Given the description of an element on the screen output the (x, y) to click on. 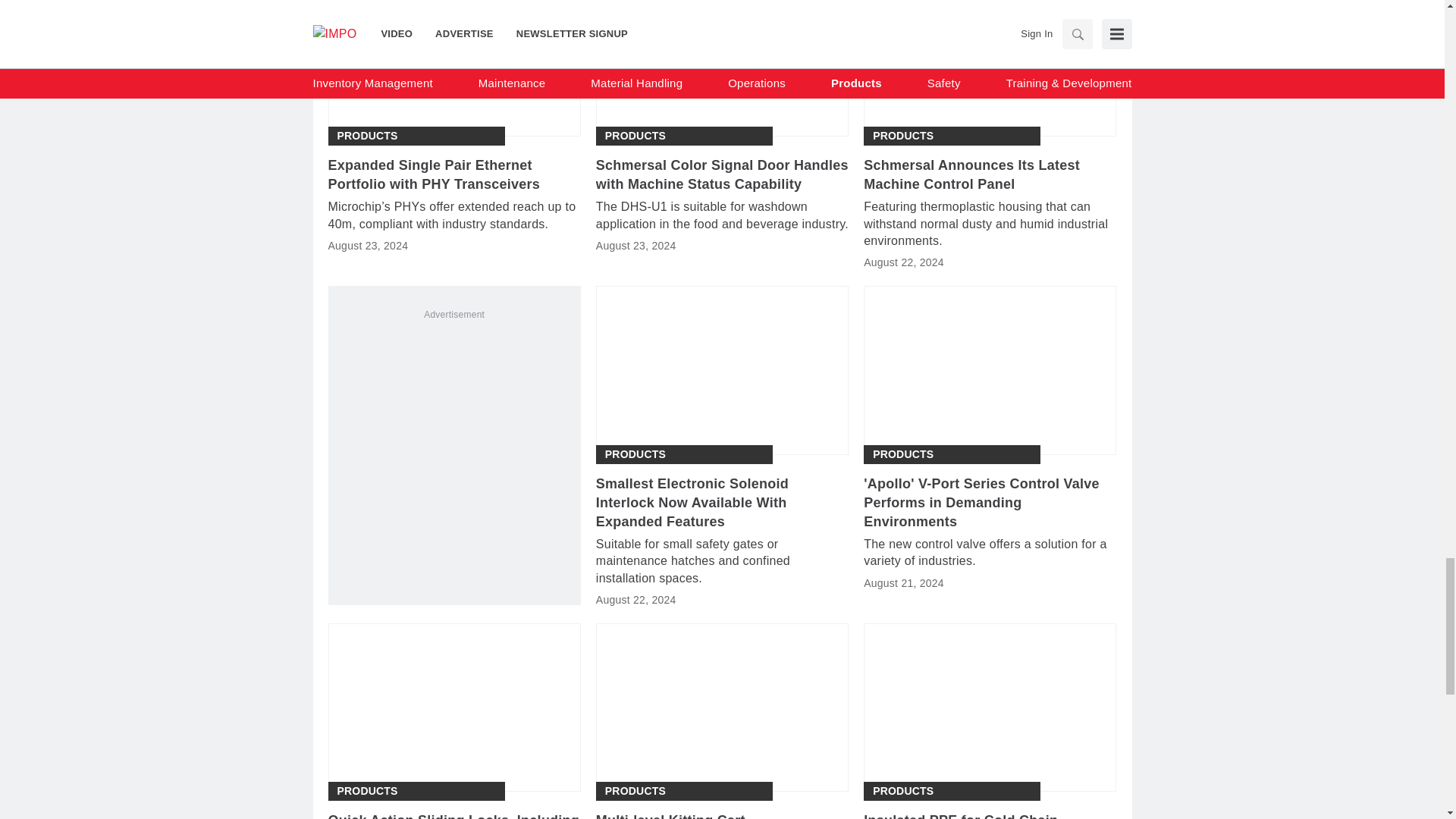
Products (635, 135)
Products (635, 454)
Products (366, 135)
Products (902, 135)
